Given the description of an element on the screen output the (x, y) to click on. 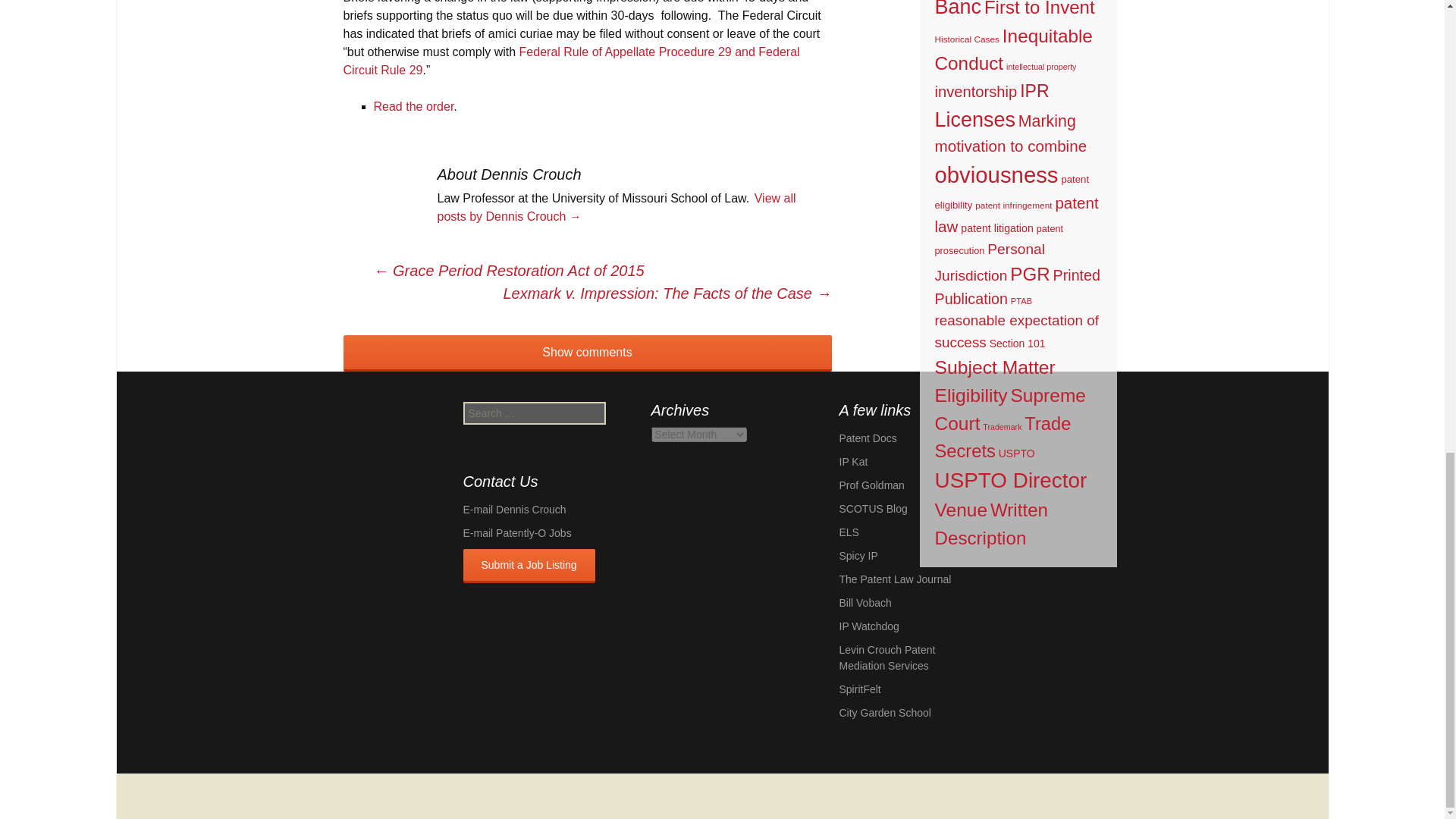
Read the order (412, 106)
Show comments (586, 352)
